Given the description of an element on the screen output the (x, y) to click on. 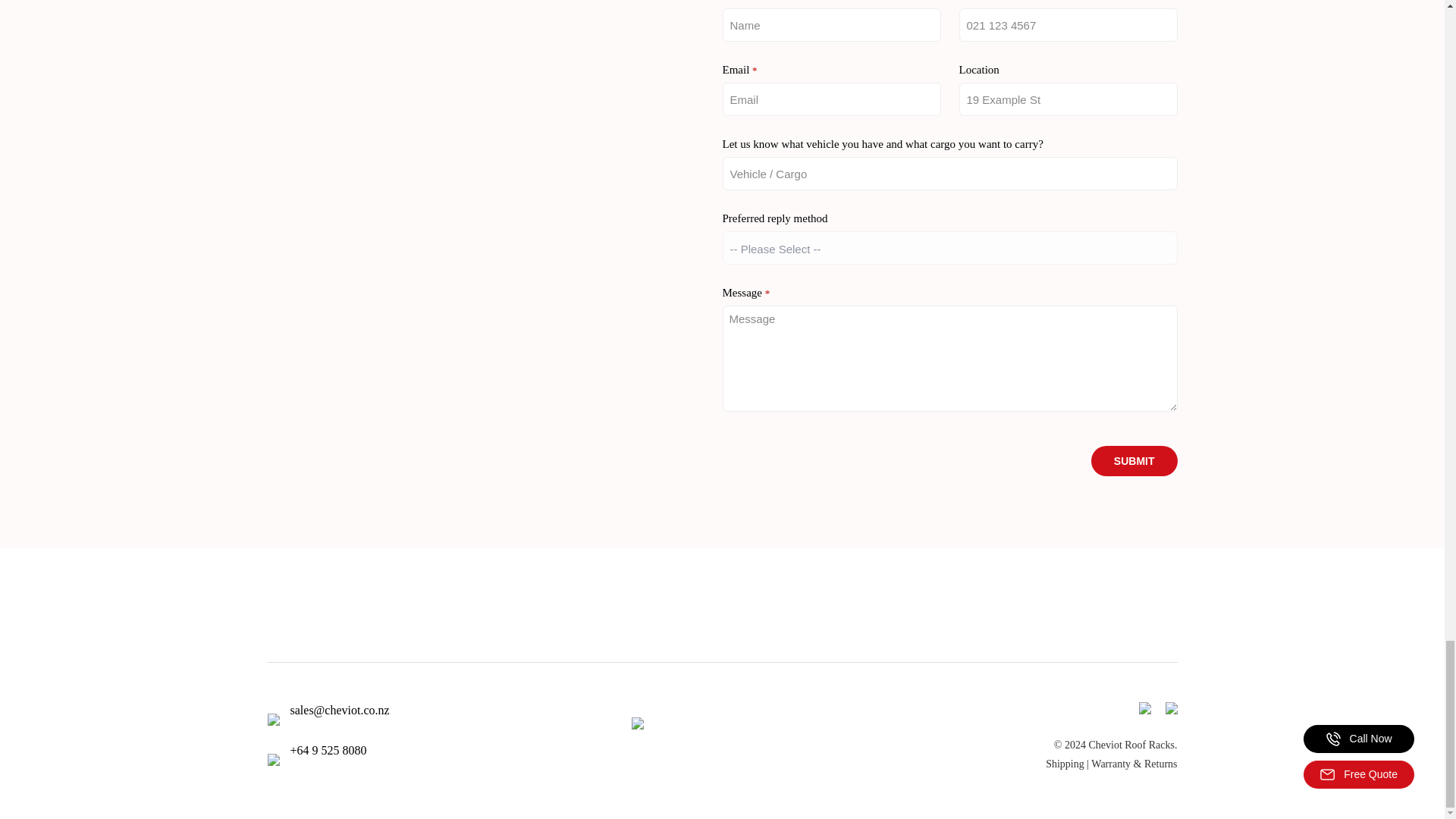
Submit (1133, 460)
